Given the description of an element on the screen output the (x, y) to click on. 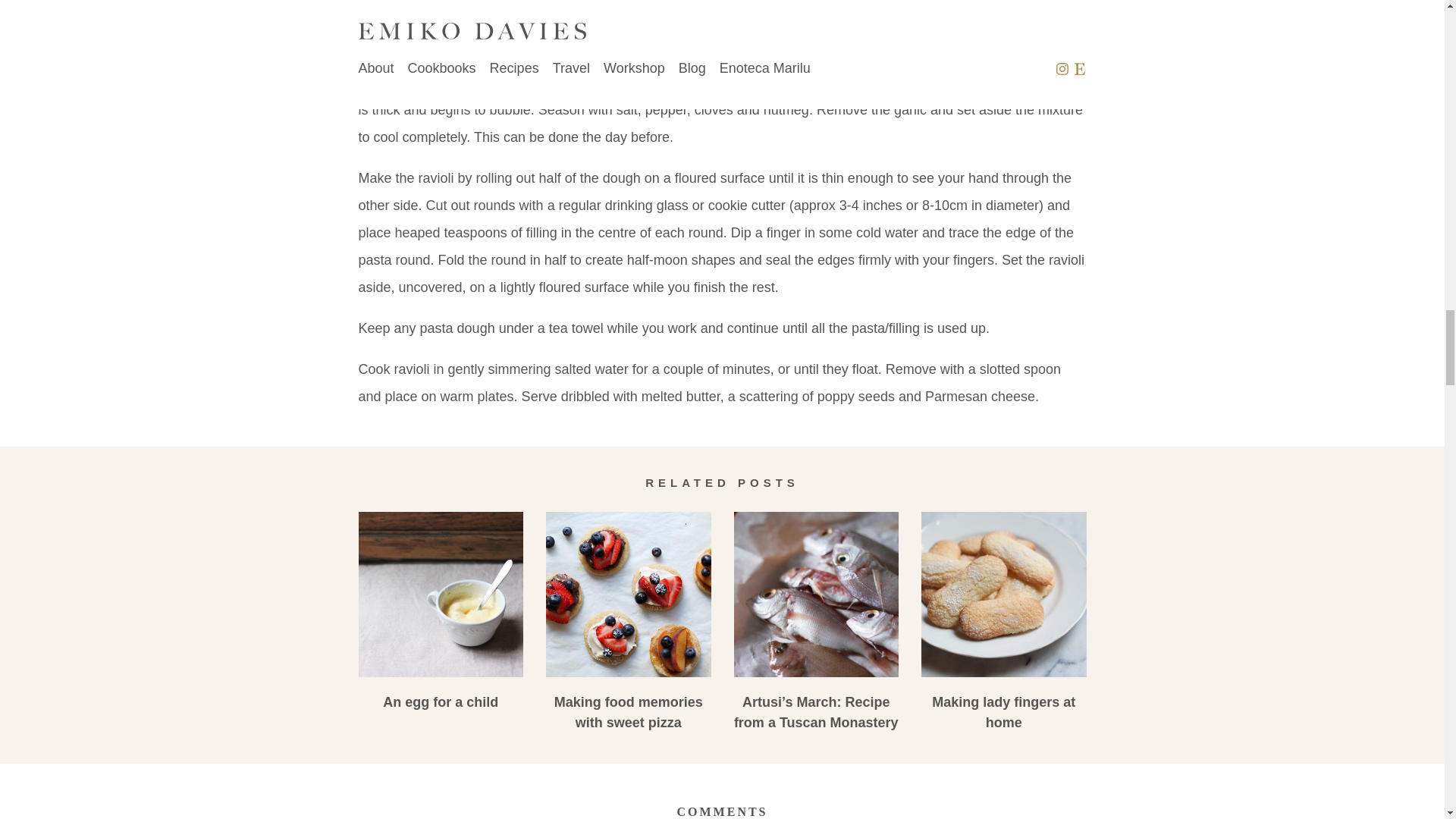
savoiardi made at home (1003, 594)
zuppa certosina 4 (816, 594)
sweet pizzette with fruit (628, 594)
Fluffy egg for a child (440, 594)
